Given the description of an element on the screen output the (x, y) to click on. 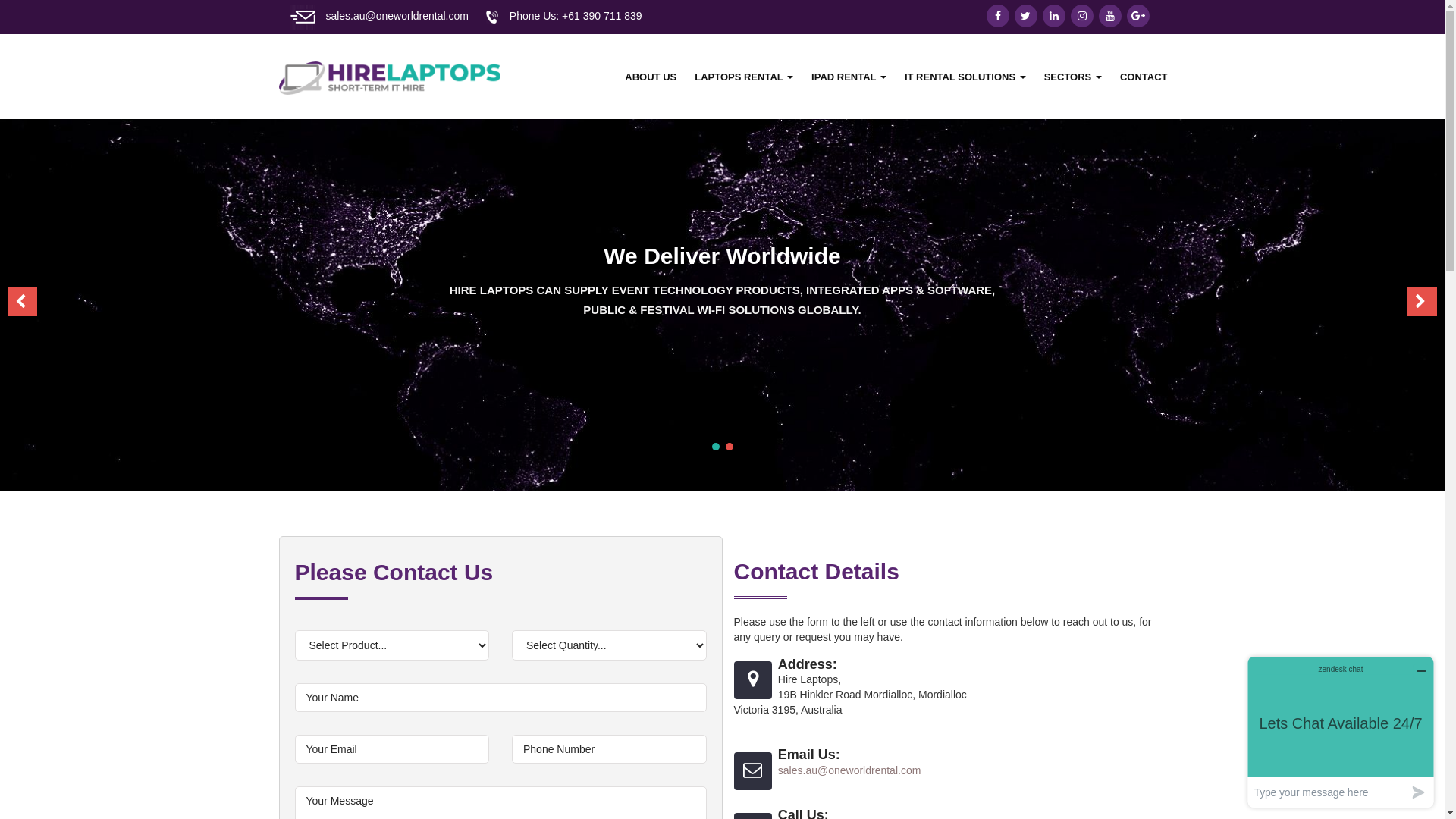
ABOUT US Element type: text (650, 77)
SECTORS Element type: text (1072, 77)
LAPTOPS RENTAL Element type: text (743, 77)
Phone Us: +61 390 711 839 Element type: text (575, 15)
IT RENTAL SOLUTIONS Element type: text (965, 77)
sales.au@oneworldrental.com Element type: text (396, 15)
Only digits Element type: hover (608, 748)
Opens a widget where you can chat to one of our agents Element type: hover (1340, 731)
IPAD RENTAL Element type: text (848, 77)
CONTACT Element type: text (1143, 77)
sales.au@oneworldrental.com Element type: text (849, 770)
